Given the description of an element on the screen output the (x, y) to click on. 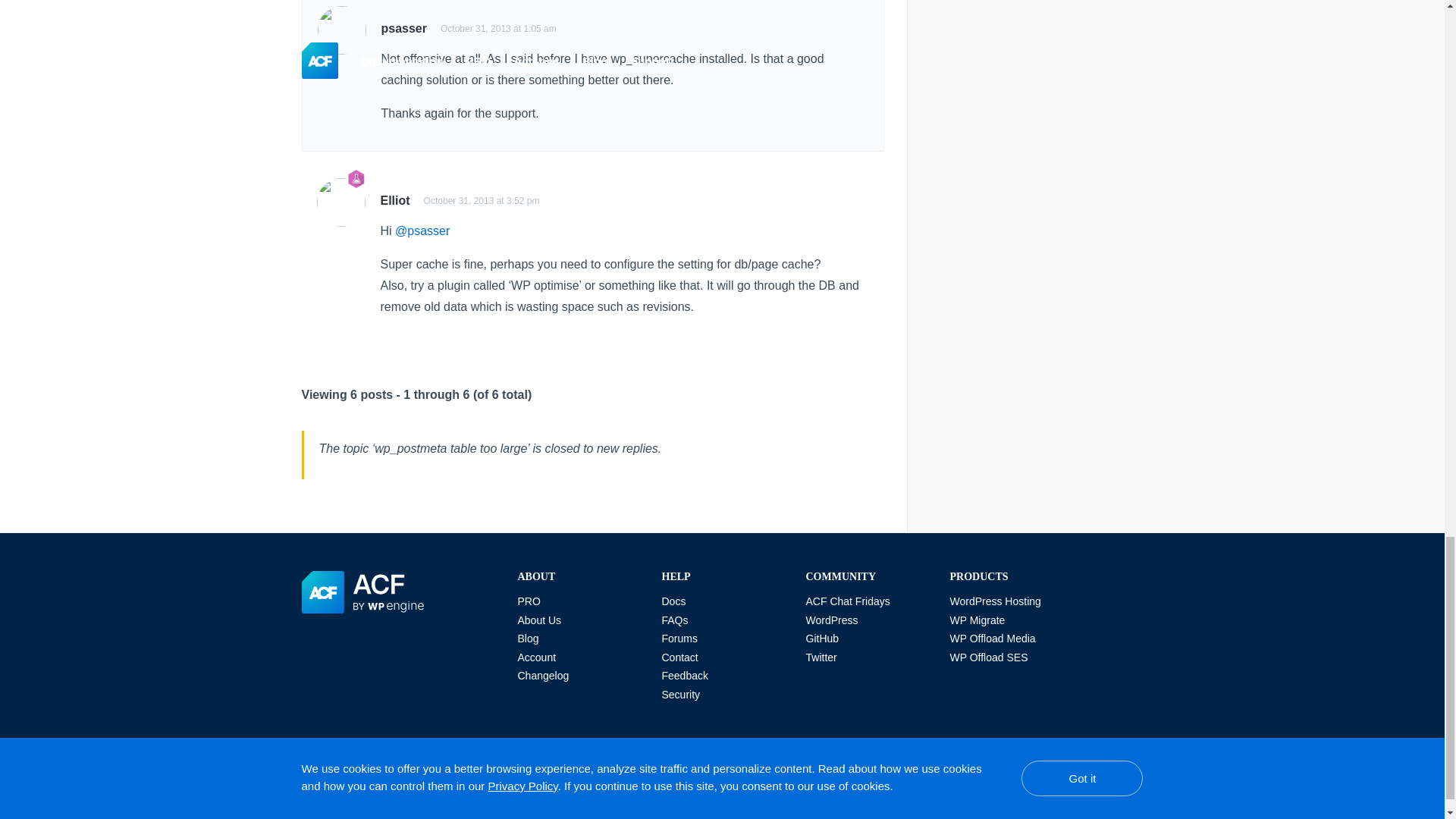
psasser (403, 28)
Elliot (395, 200)
October 31, 2013 at 1:05 am (498, 28)
October 31, 2013 at 3:52 pm (481, 200)
